Given the description of an element on the screen output the (x, y) to click on. 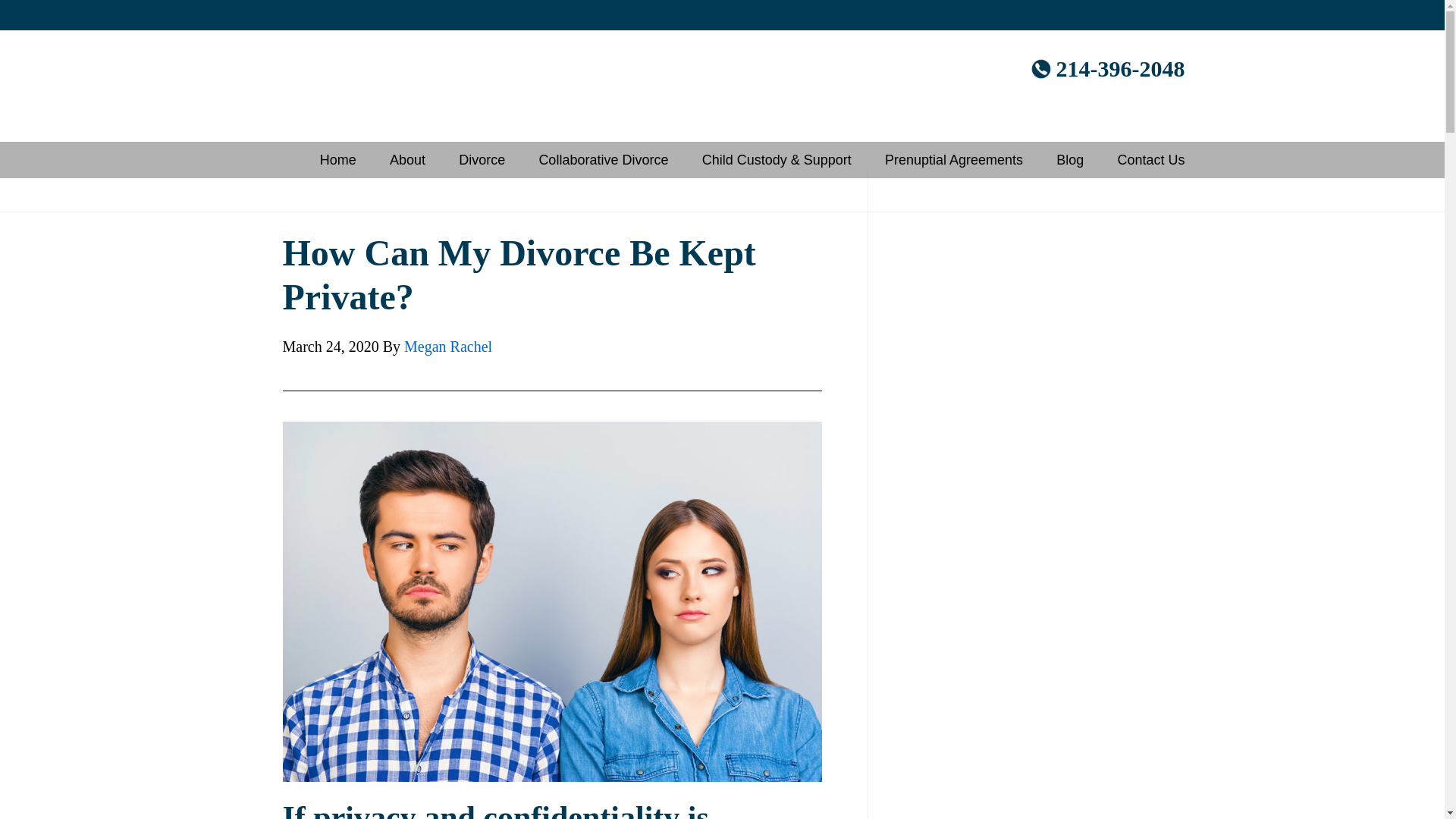
214-396-2048 (1107, 68)
MEGAN B. RACHEL, ATTORNEY AT LAW (349, 85)
